Given the description of an element on the screen output the (x, y) to click on. 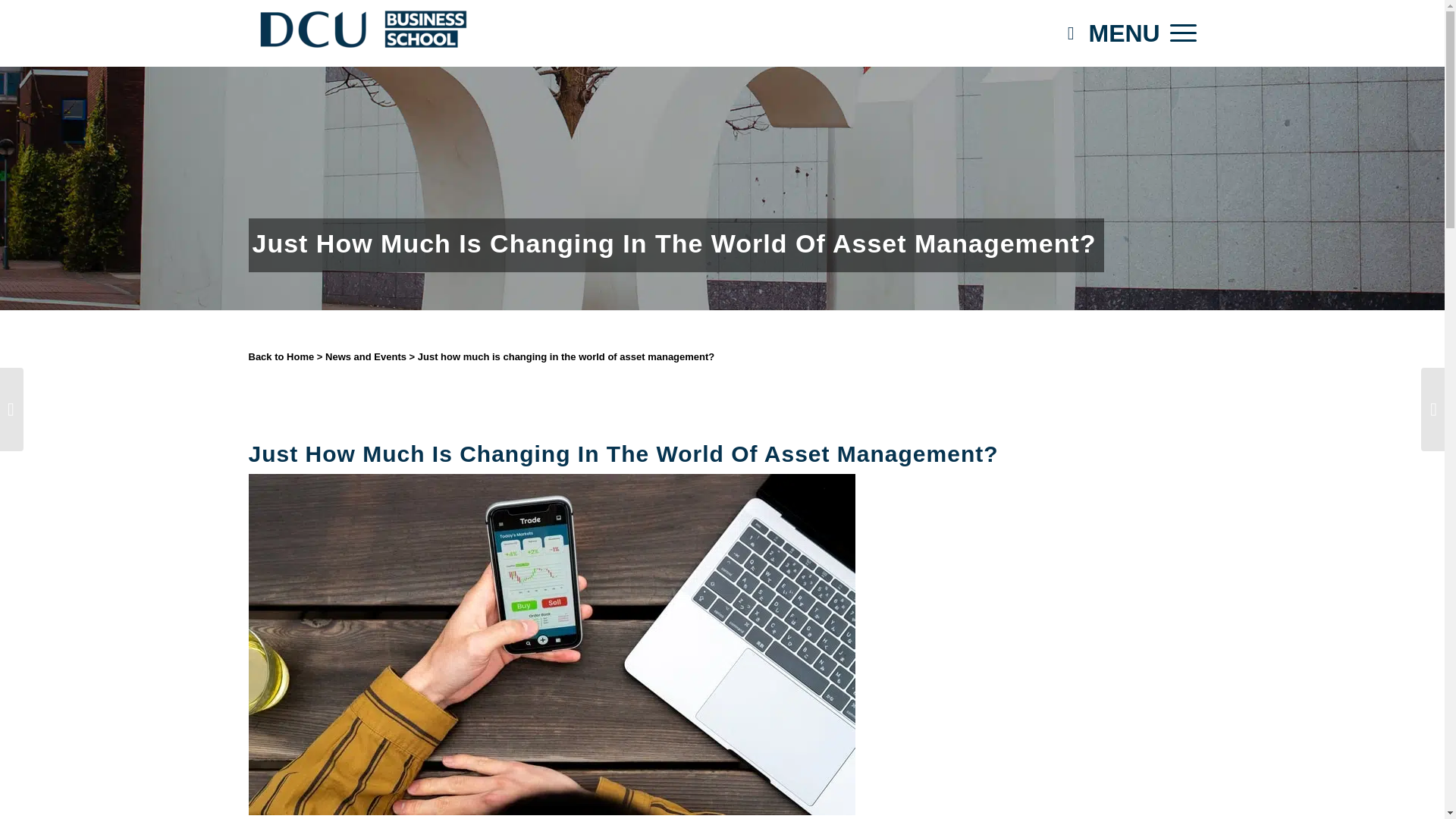
Back to Home (281, 356)
